Given the description of an element on the screen output the (x, y) to click on. 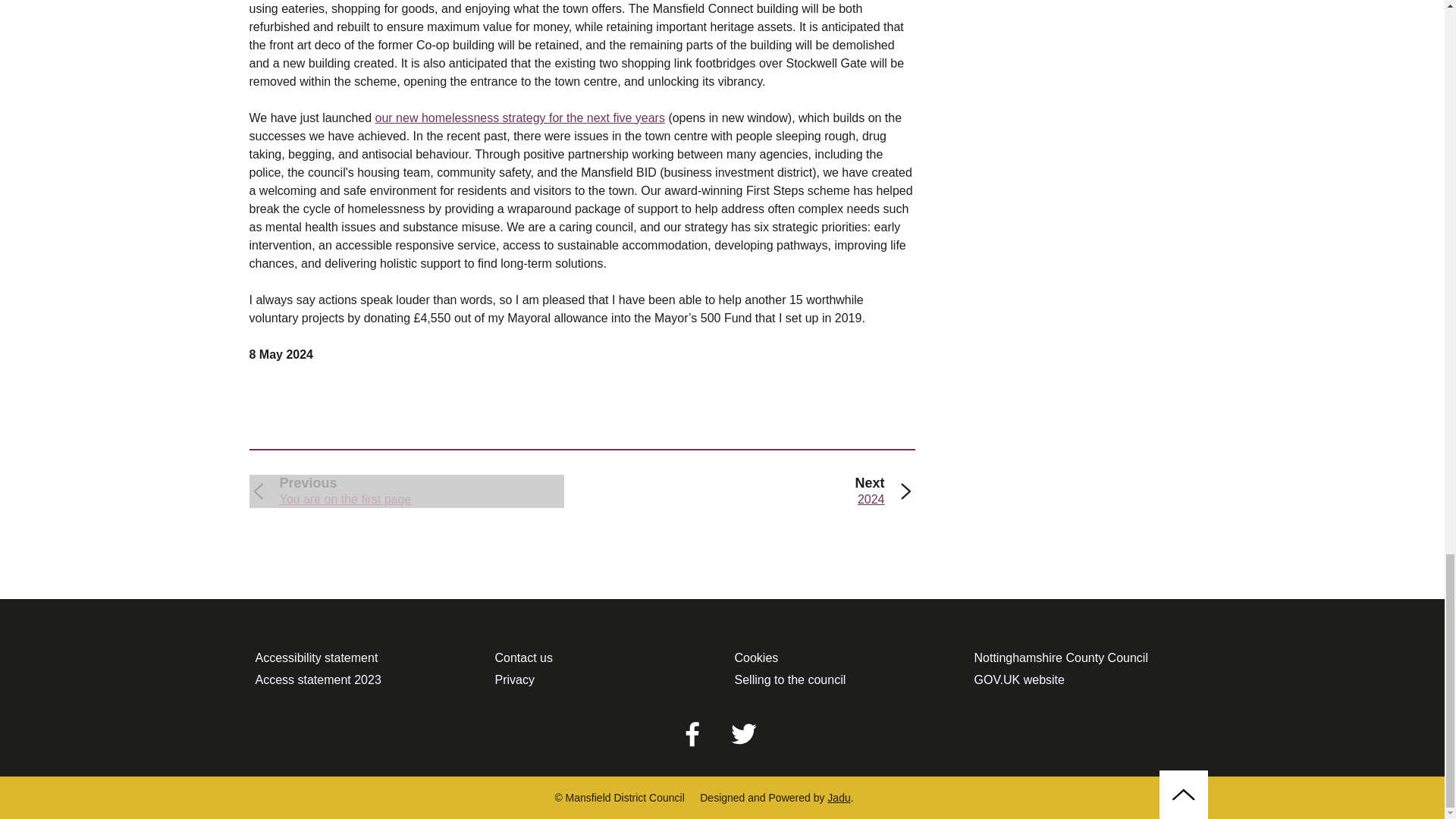
Twitter (743, 733)
Facebook (691, 733)
